Given the description of an element on the screen output the (x, y) to click on. 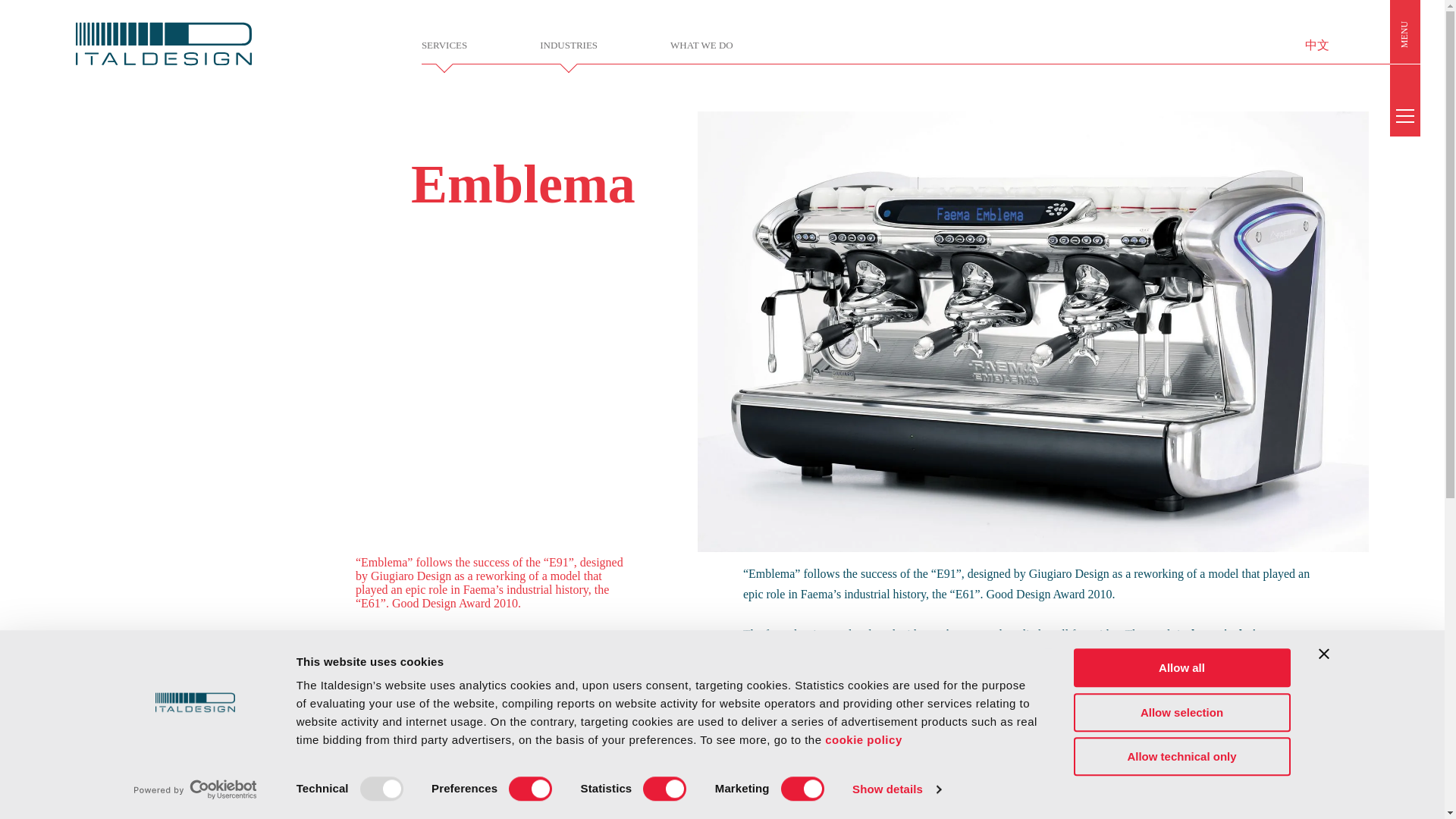
Italdesign (223, 45)
cookie policy (863, 739)
Services (444, 44)
Show details (895, 789)
